Given the description of an element on the screen output the (x, y) to click on. 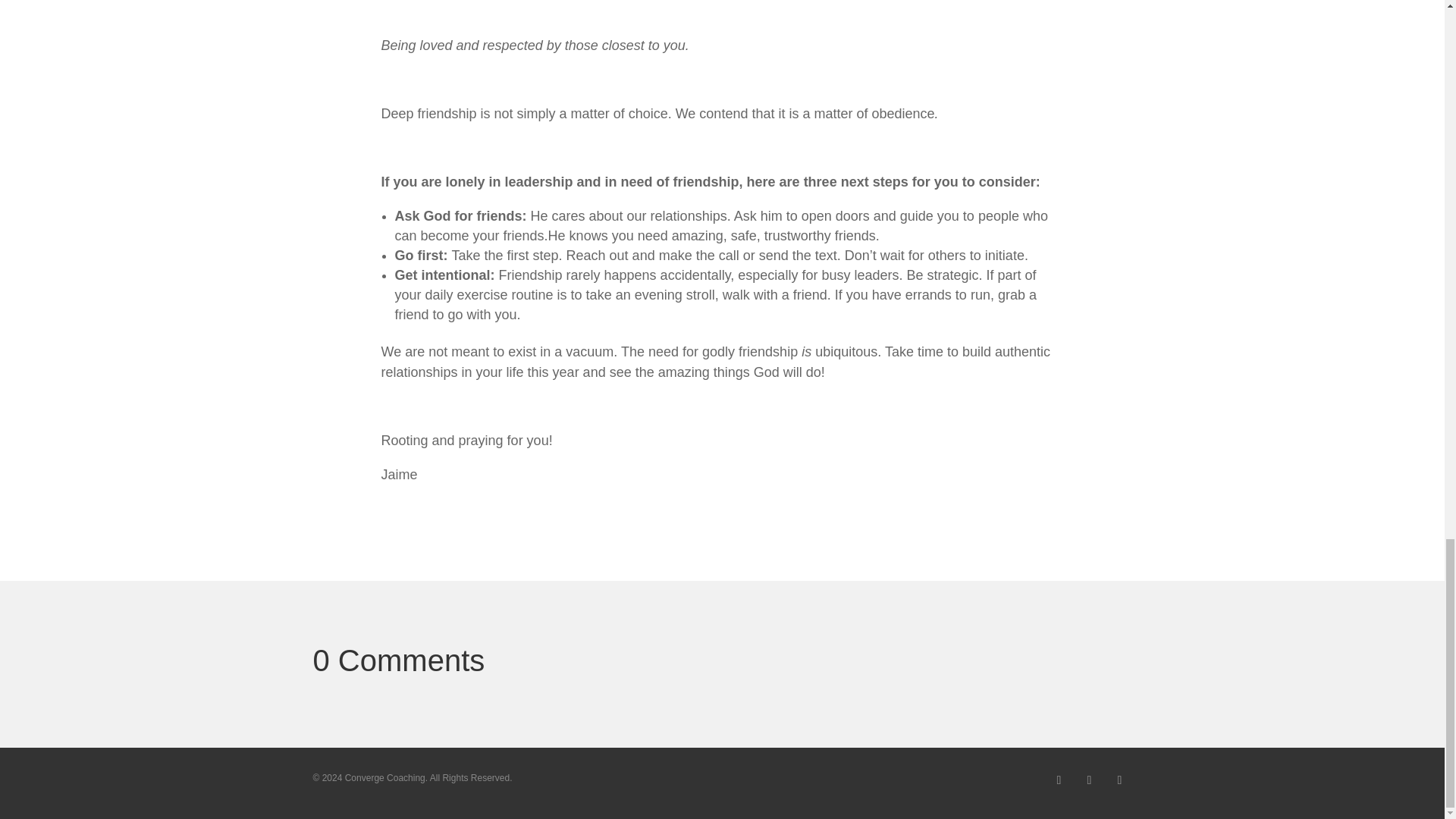
Follow on X (1058, 780)
Follow on Facebook (1088, 780)
Follow on LinkedIn (1118, 780)
